Given the description of an element on the screen output the (x, y) to click on. 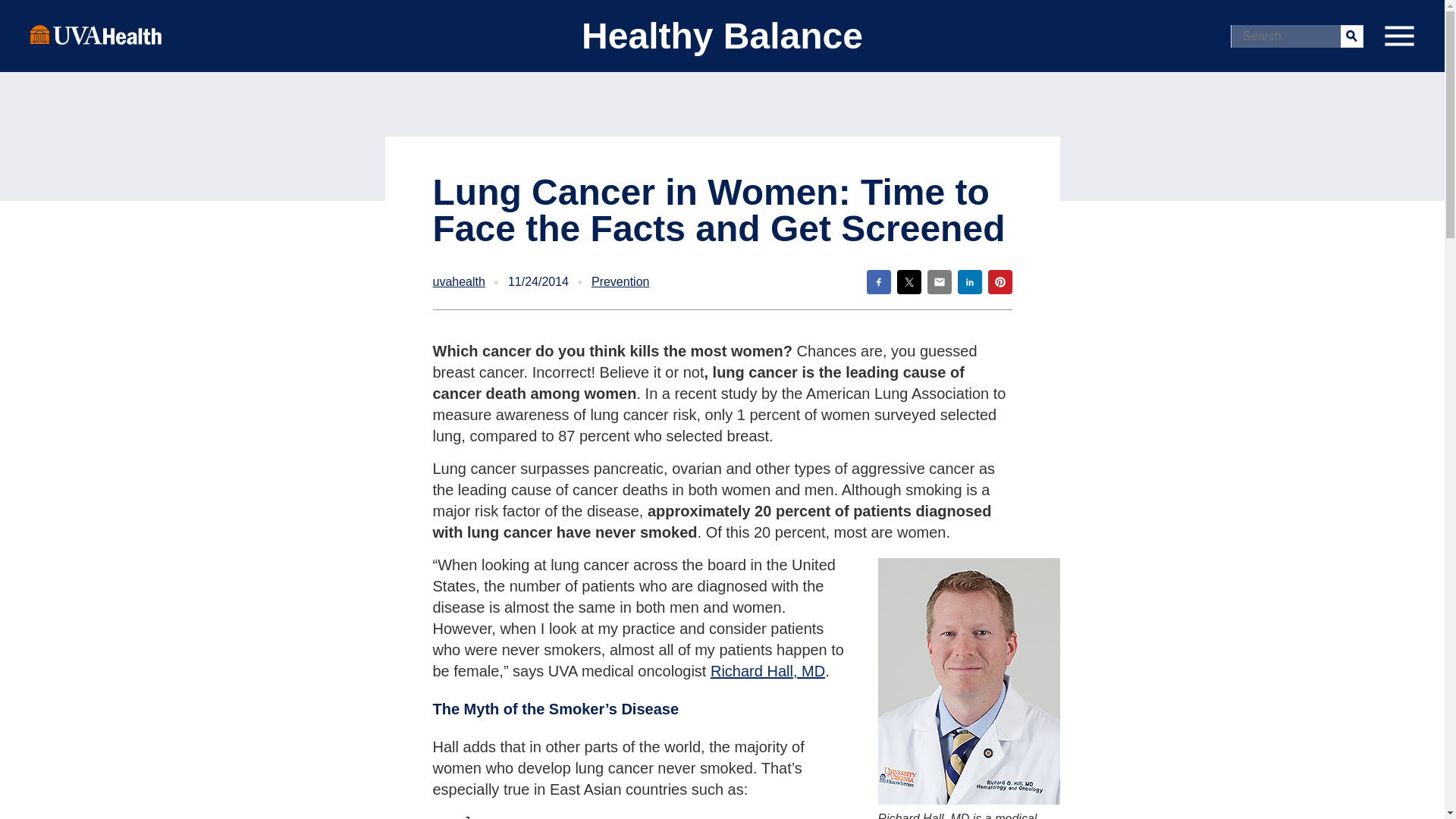
uvahealth (458, 282)
Richard Hall, MD (767, 670)
Search Submit (1351, 35)
Prevention (620, 282)
Submit the Search Form (1351, 35)
menu toggle (1398, 36)
Posts by uvahealth (458, 282)
Healthy Balance (722, 35)
Search Toggle (15, 11)
UVA Health logo of UVA Health (95, 34)
